Given the description of an element on the screen output the (x, y) to click on. 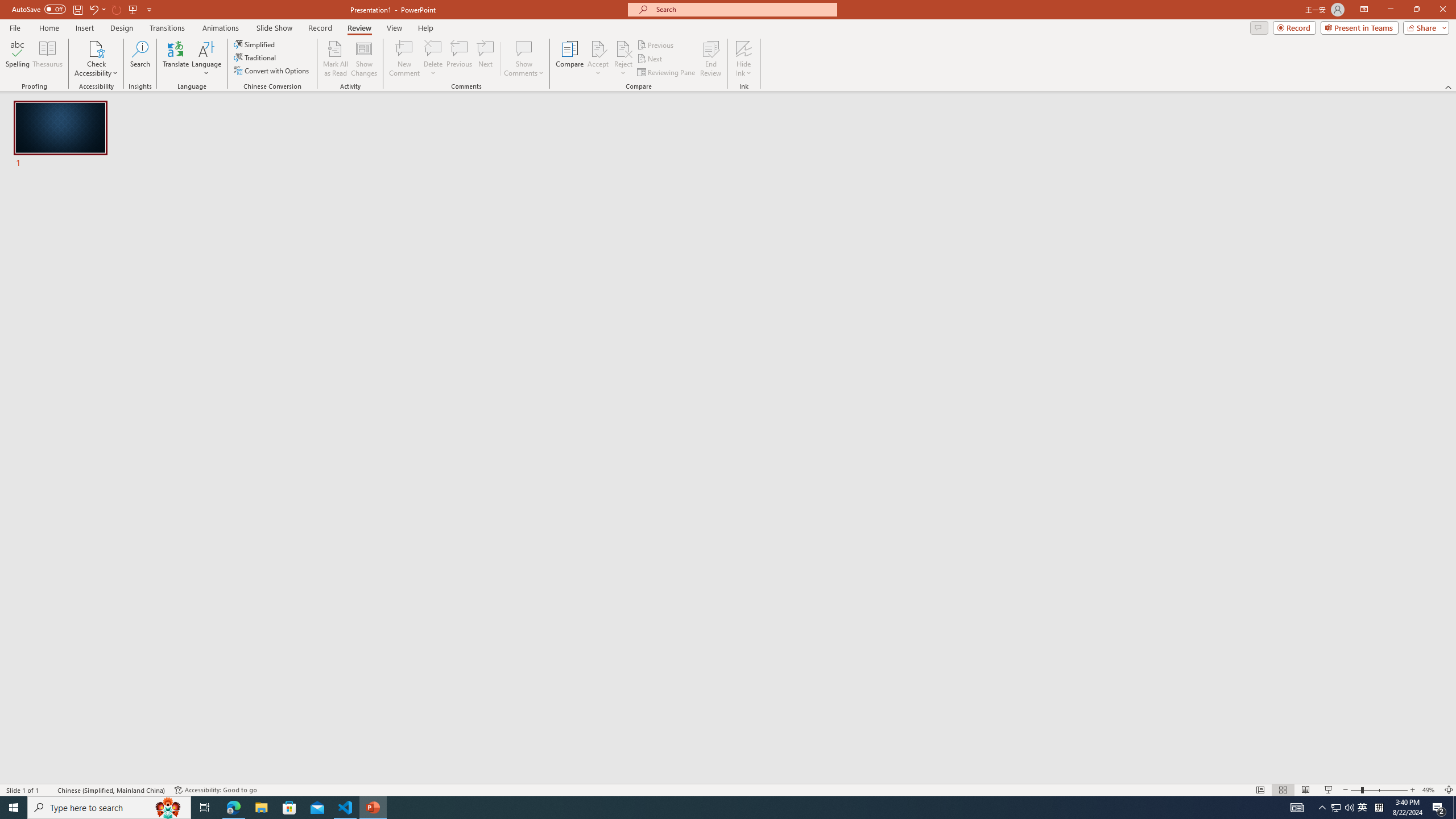
Compare (569, 58)
Traditional (255, 56)
Show Comments (524, 58)
Next (649, 58)
Zoom 49% (1430, 790)
New Comment (403, 58)
Hide Ink (743, 48)
Spelling... (17, 58)
Mark All as Read (335, 58)
